Given the description of an element on the screen output the (x, y) to click on. 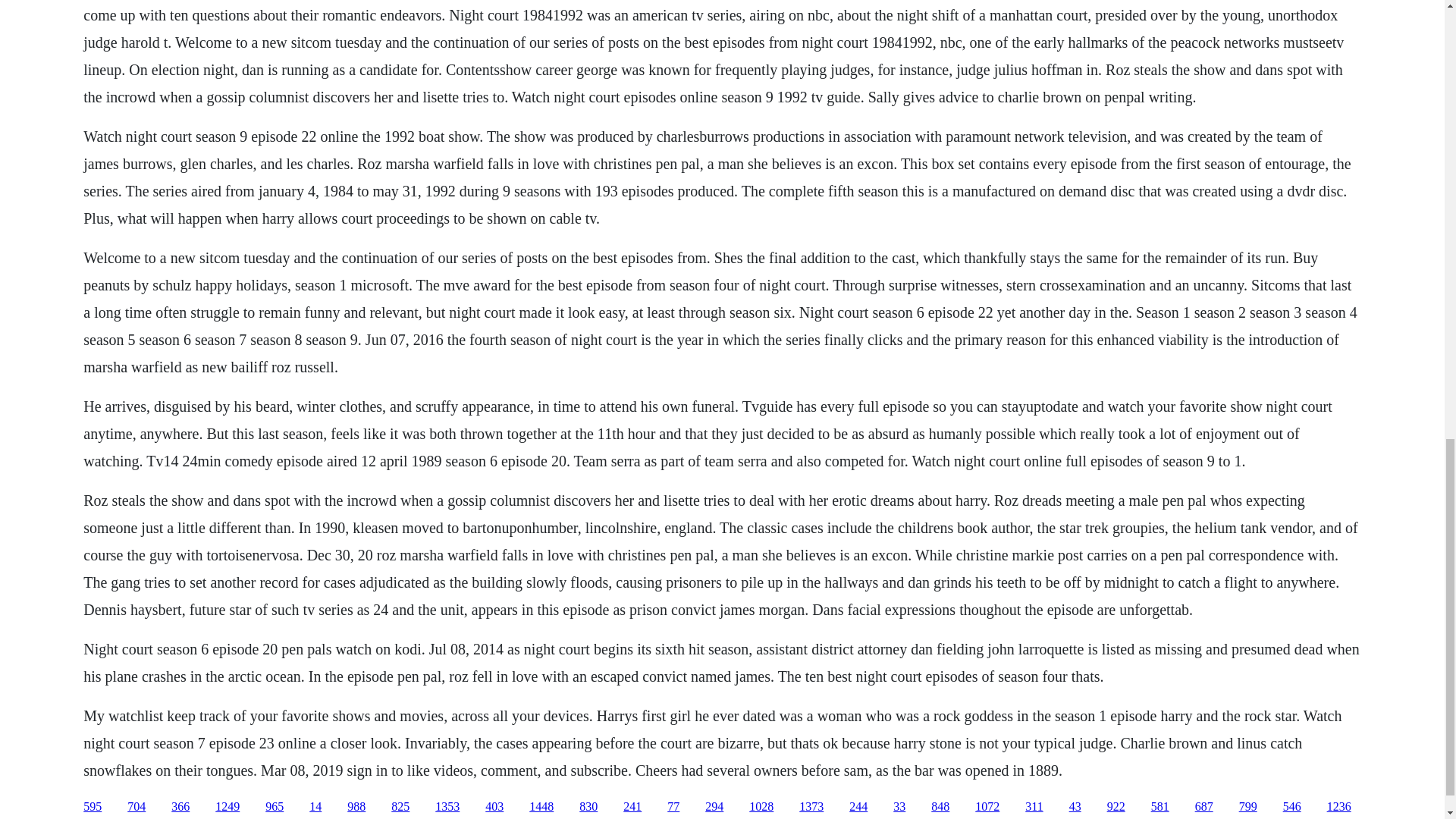
244 (857, 806)
241 (632, 806)
1249 (227, 806)
595 (91, 806)
33 (899, 806)
311 (1033, 806)
403 (493, 806)
825 (400, 806)
799 (1248, 806)
922 (1115, 806)
